Given the description of an element on the screen output the (x, y) to click on. 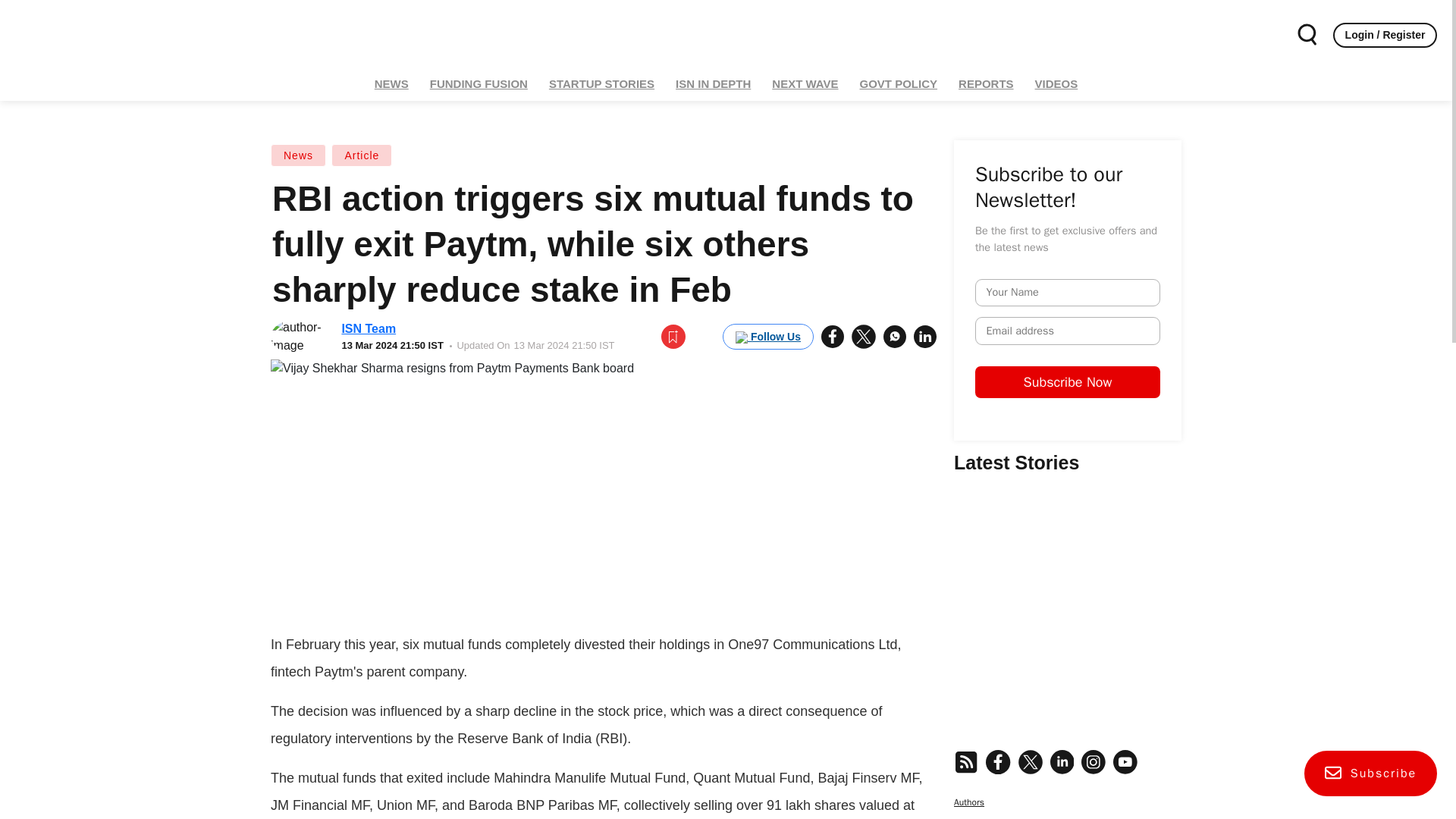
Subscribe Now (1185, 424)
ISN IN DEPTH (712, 83)
GOVT POLICY (898, 83)
VIDEOS (1056, 83)
STARTUP STORIES (601, 83)
ISN Team (368, 328)
NEWS (391, 83)
REPORTS (986, 83)
Authors (968, 802)
FUNDING FUSION (478, 83)
Follow Us (767, 336)
Article (361, 155)
Subscribe (1370, 773)
NEXT WAVE (805, 83)
News (298, 155)
